Given the description of an element on the screen output the (x, y) to click on. 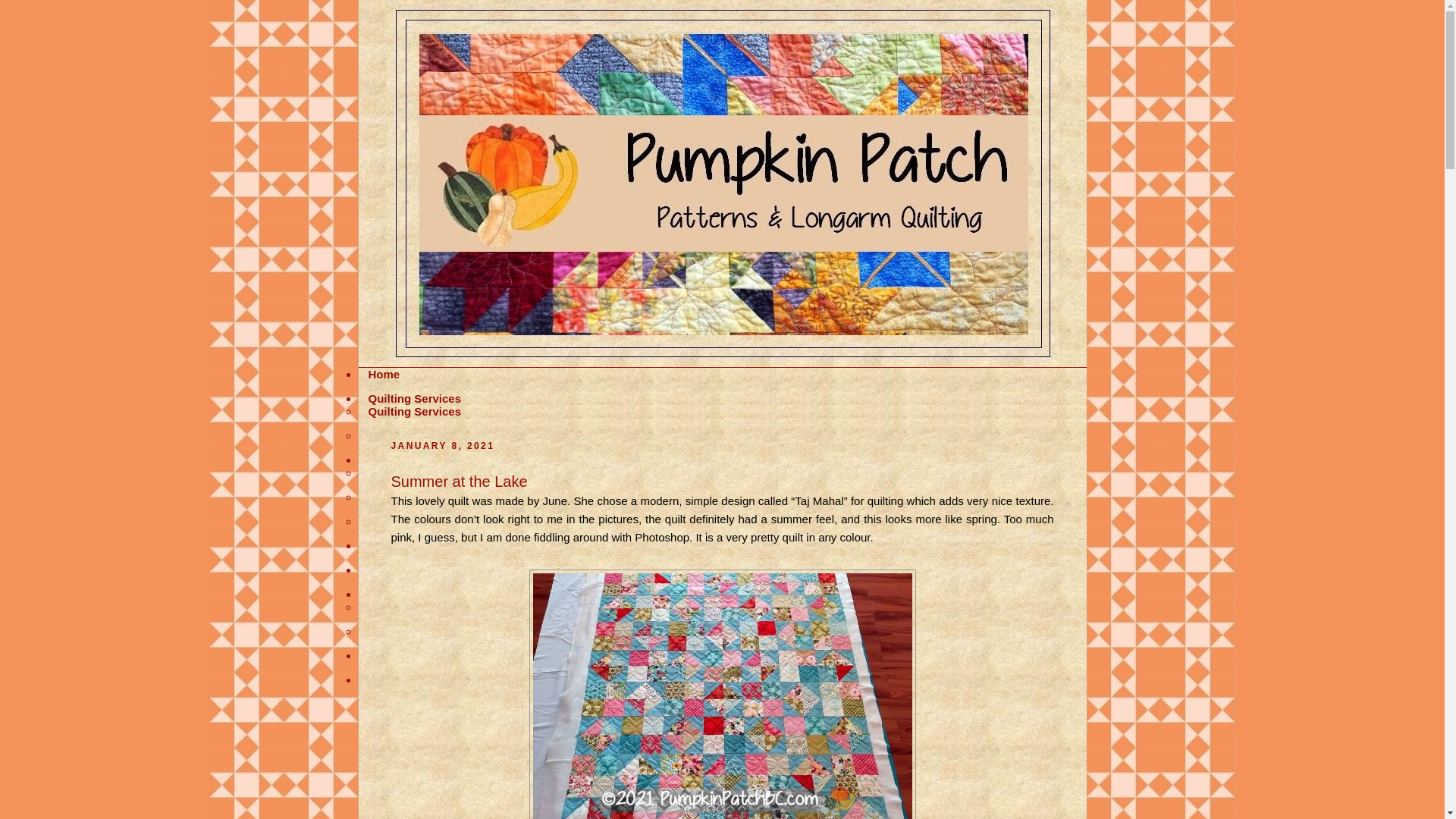
Summer at the Lake (459, 481)
Fanning Seam Allowances (439, 496)
Contact (389, 594)
Quilting Services (414, 398)
Quilting Services (414, 410)
Breast Cancer Heart Pillows (443, 631)
Attaching Borders (417, 521)
Shop (382, 679)
Contact (389, 606)
Home (383, 373)
Quilt Preparation (414, 472)
COVID-19 Update (414, 435)
Quilt Preparation (414, 459)
About (384, 569)
Loyalty Program (412, 545)
